Given the description of an element on the screen output the (x, y) to click on. 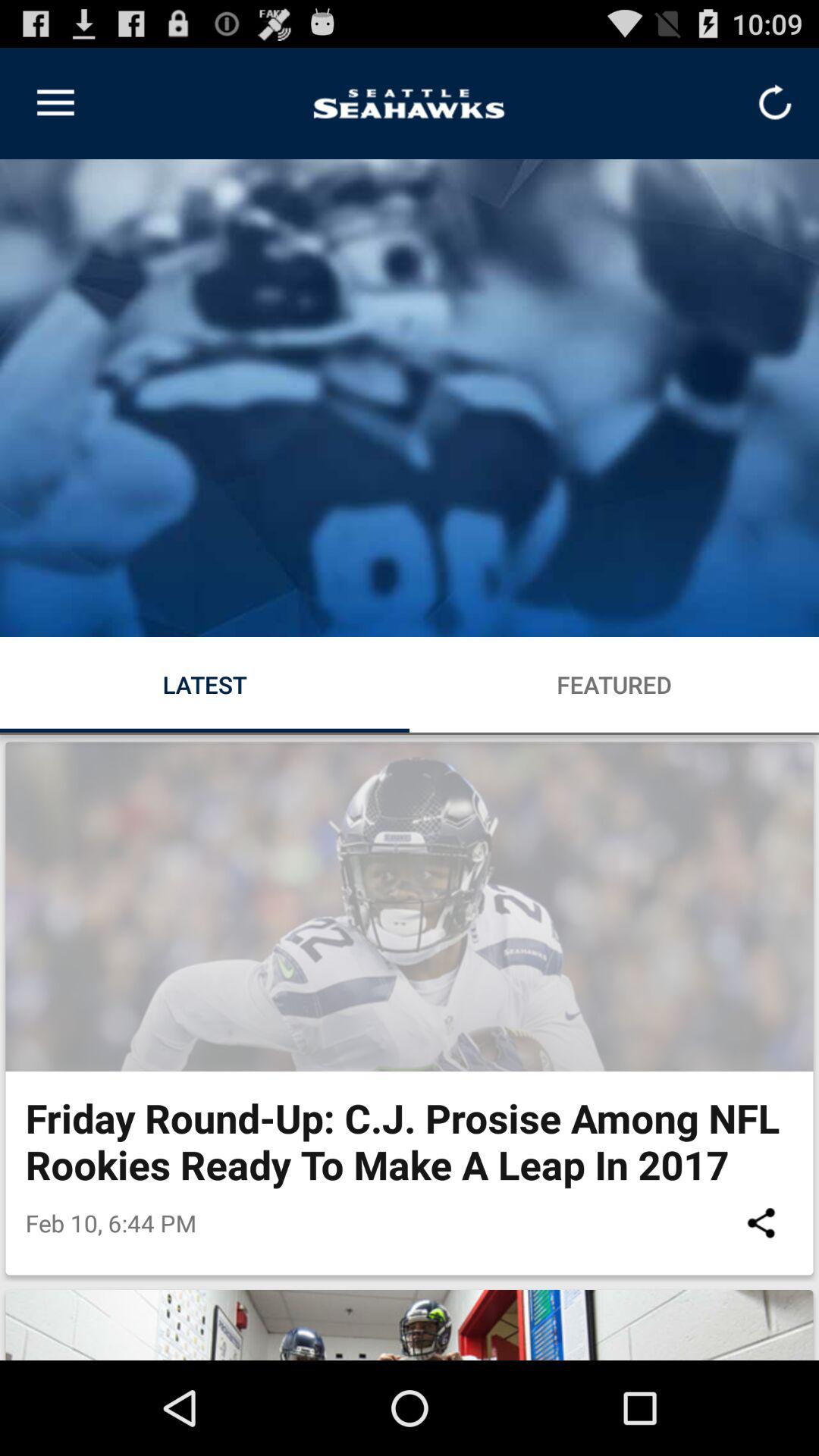
click icon at the top left corner (55, 103)
